Given the description of an element on the screen output the (x, y) to click on. 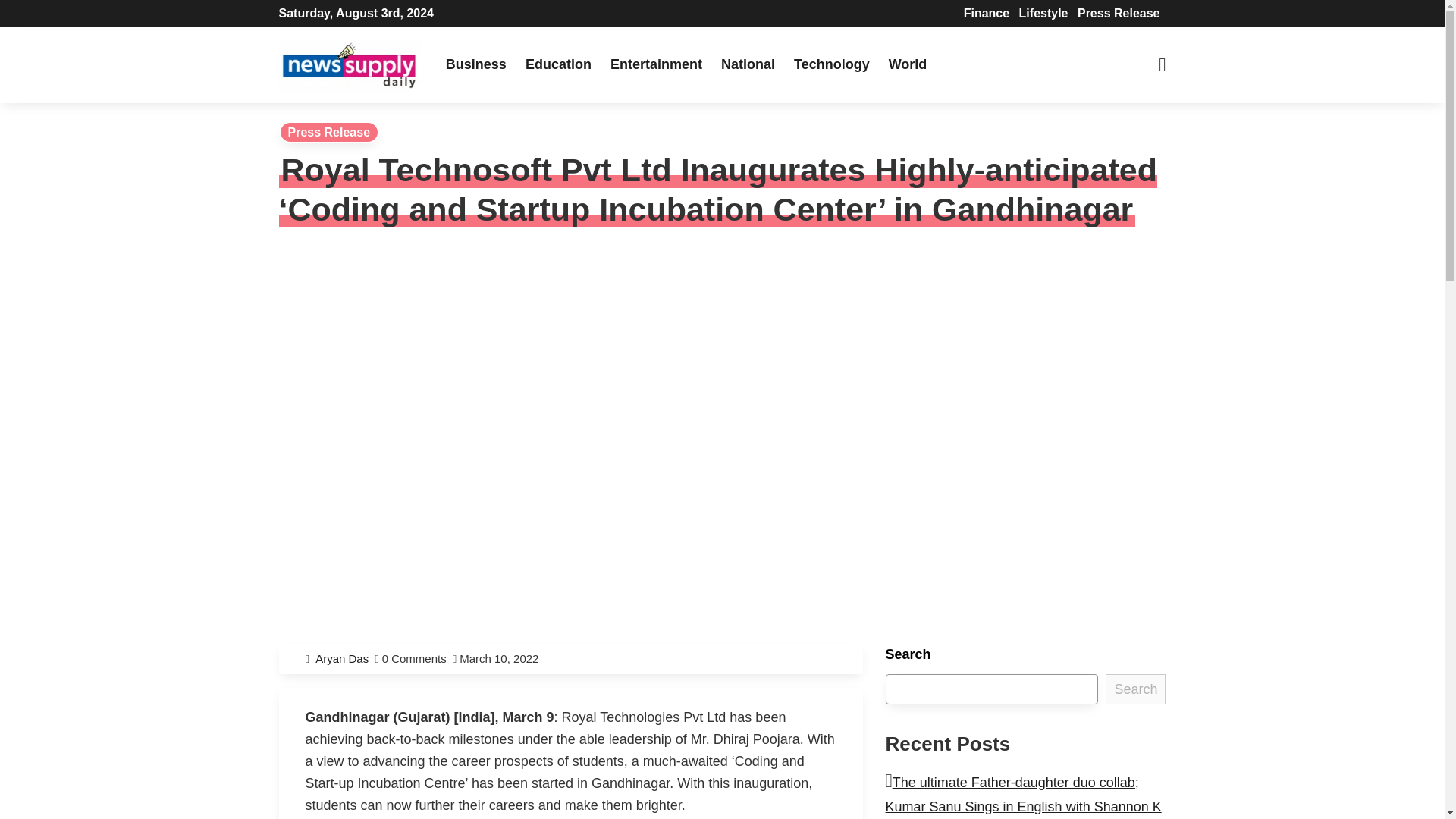
Press Release (329, 132)
Lifestyle (1043, 12)
Business (475, 64)
National (748, 64)
World (907, 64)
Search (1135, 689)
Aryan Das (344, 658)
Press Release (1118, 12)
Finance (986, 12)
Search (455, 16)
Education (558, 64)
View all posts in Press Release (329, 132)
Technology (831, 64)
Entertainment (656, 64)
